Given the description of an element on the screen output the (x, y) to click on. 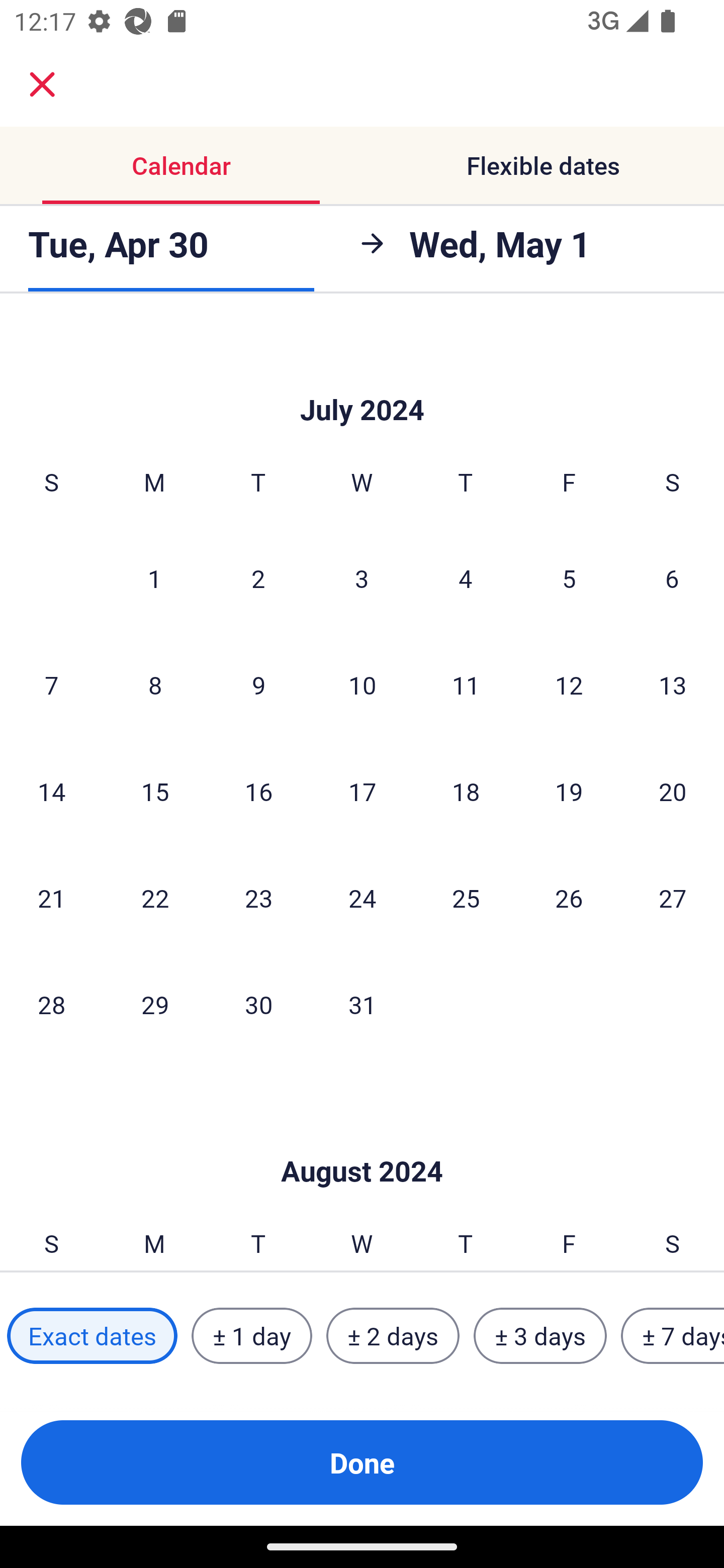
close. (42, 84)
Flexible dates (542, 164)
Skip to Done (362, 379)
1 Monday, July 1, 2024 (154, 578)
2 Tuesday, July 2, 2024 (257, 578)
3 Wednesday, July 3, 2024 (361, 578)
4 Thursday, July 4, 2024 (465, 578)
5 Friday, July 5, 2024 (568, 578)
6 Saturday, July 6, 2024 (672, 578)
7 Sunday, July 7, 2024 (51, 684)
8 Monday, July 8, 2024 (155, 684)
9 Tuesday, July 9, 2024 (258, 684)
10 Wednesday, July 10, 2024 (362, 684)
11 Thursday, July 11, 2024 (465, 684)
12 Friday, July 12, 2024 (569, 684)
13 Saturday, July 13, 2024 (672, 684)
14 Sunday, July 14, 2024 (51, 791)
15 Monday, July 15, 2024 (155, 791)
16 Tuesday, July 16, 2024 (258, 791)
17 Wednesday, July 17, 2024 (362, 791)
18 Thursday, July 18, 2024 (465, 791)
19 Friday, July 19, 2024 (569, 791)
20 Saturday, July 20, 2024 (672, 791)
21 Sunday, July 21, 2024 (51, 897)
22 Monday, July 22, 2024 (155, 897)
23 Tuesday, July 23, 2024 (258, 897)
24 Wednesday, July 24, 2024 (362, 897)
25 Thursday, July 25, 2024 (465, 897)
26 Friday, July 26, 2024 (569, 897)
27 Saturday, July 27, 2024 (672, 897)
28 Sunday, July 28, 2024 (51, 1004)
29 Monday, July 29, 2024 (155, 1004)
30 Tuesday, July 30, 2024 (258, 1004)
31 Wednesday, July 31, 2024 (362, 1004)
Skip to Done (362, 1141)
Exact dates (92, 1335)
± 1 day (251, 1335)
± 2 days (392, 1335)
± 3 days (539, 1335)
± 7 days (672, 1335)
Done (361, 1462)
